Given the description of an element on the screen output the (x, y) to click on. 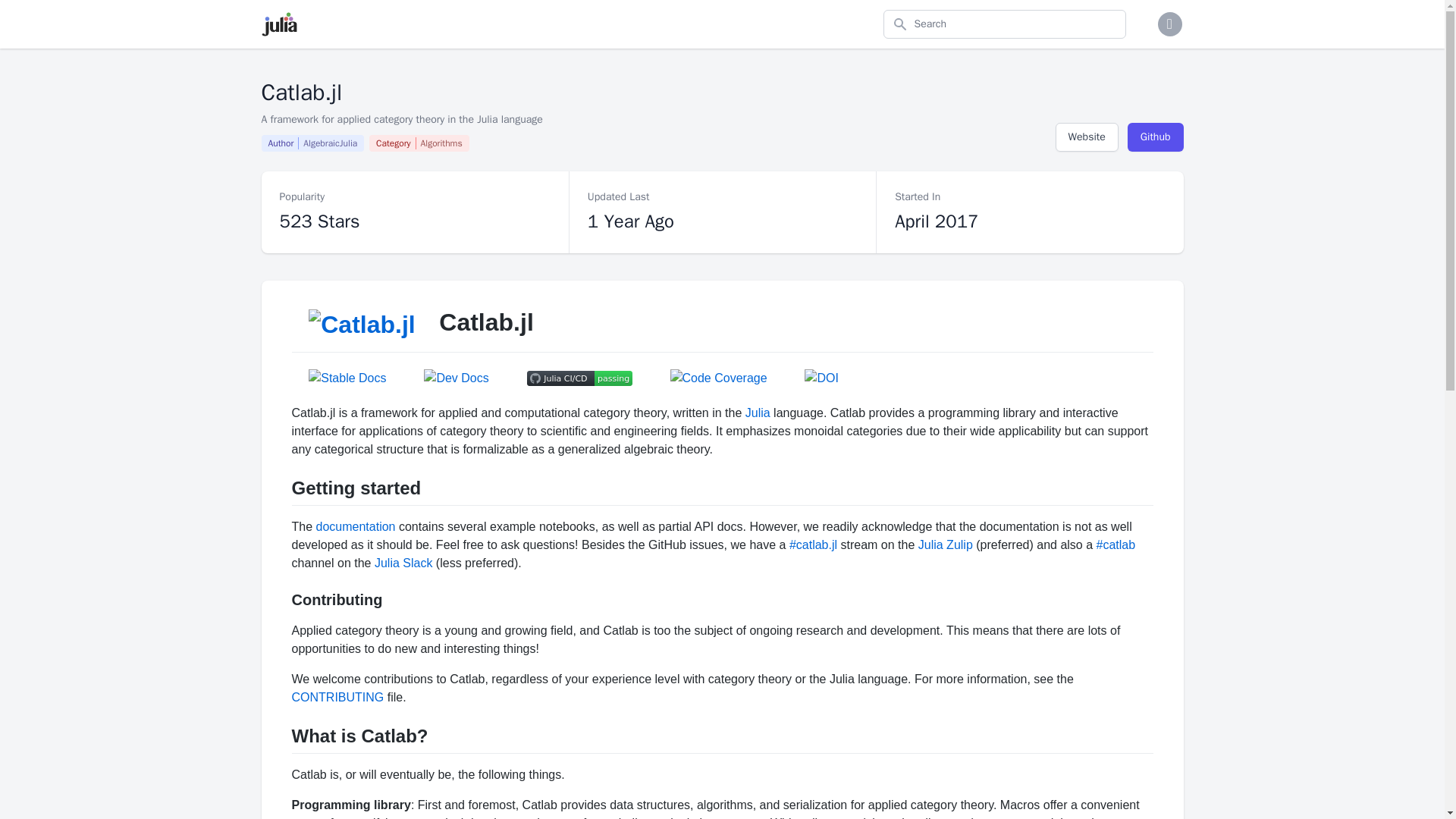
Julia (757, 412)
CONTRIBUTING (337, 697)
documentation (355, 526)
Website (1086, 136)
Julia Zulip (314, 142)
Julia Slack (945, 544)
Github (418, 142)
